Given the description of an element on the screen output the (x, y) to click on. 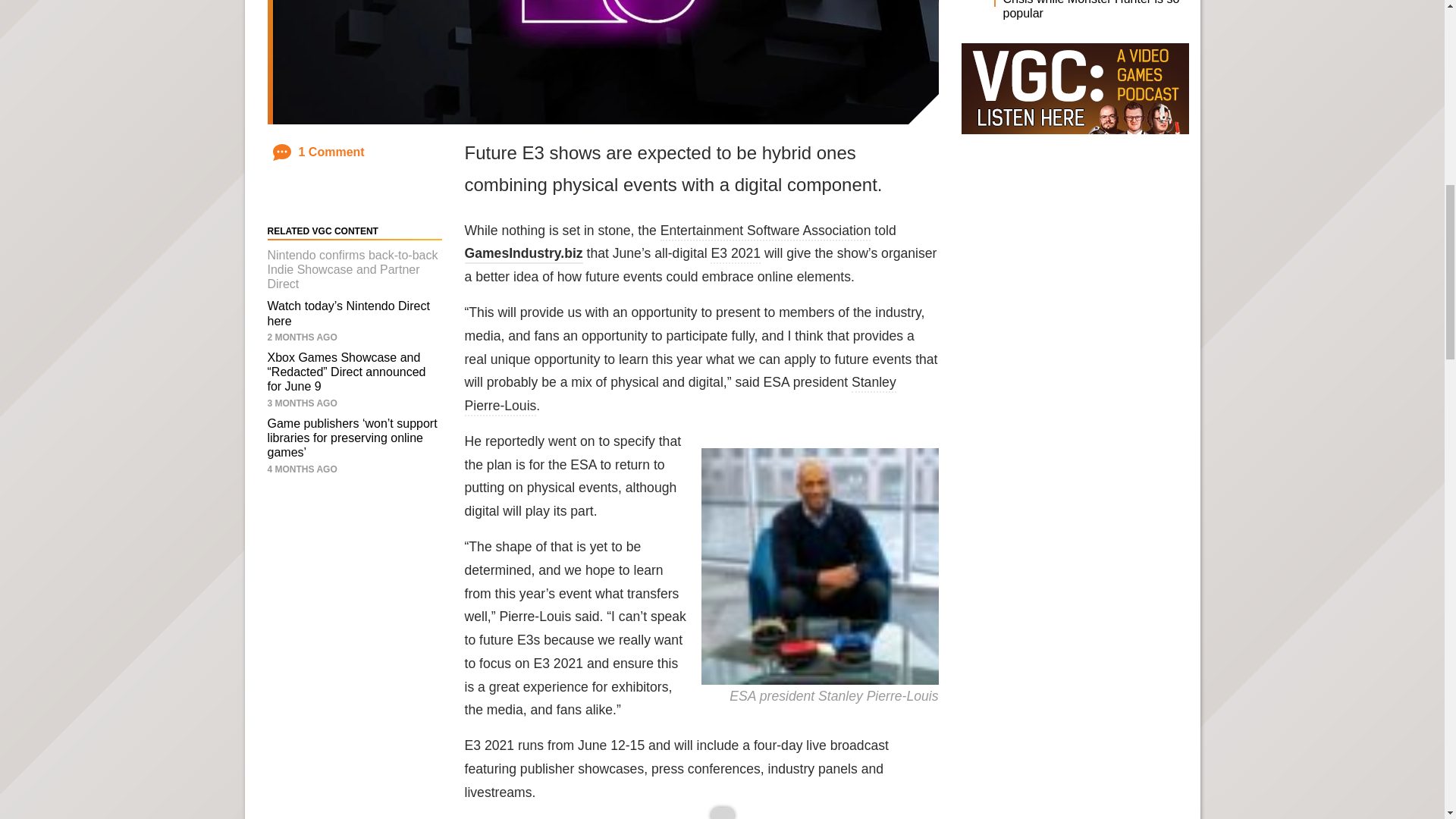
GamesIndustry.biz (523, 254)
Stanley Pierre-Louis (679, 395)
E3 2021 (735, 254)
Entertainment Software Association (765, 231)
